Given the description of an element on the screen output the (x, y) to click on. 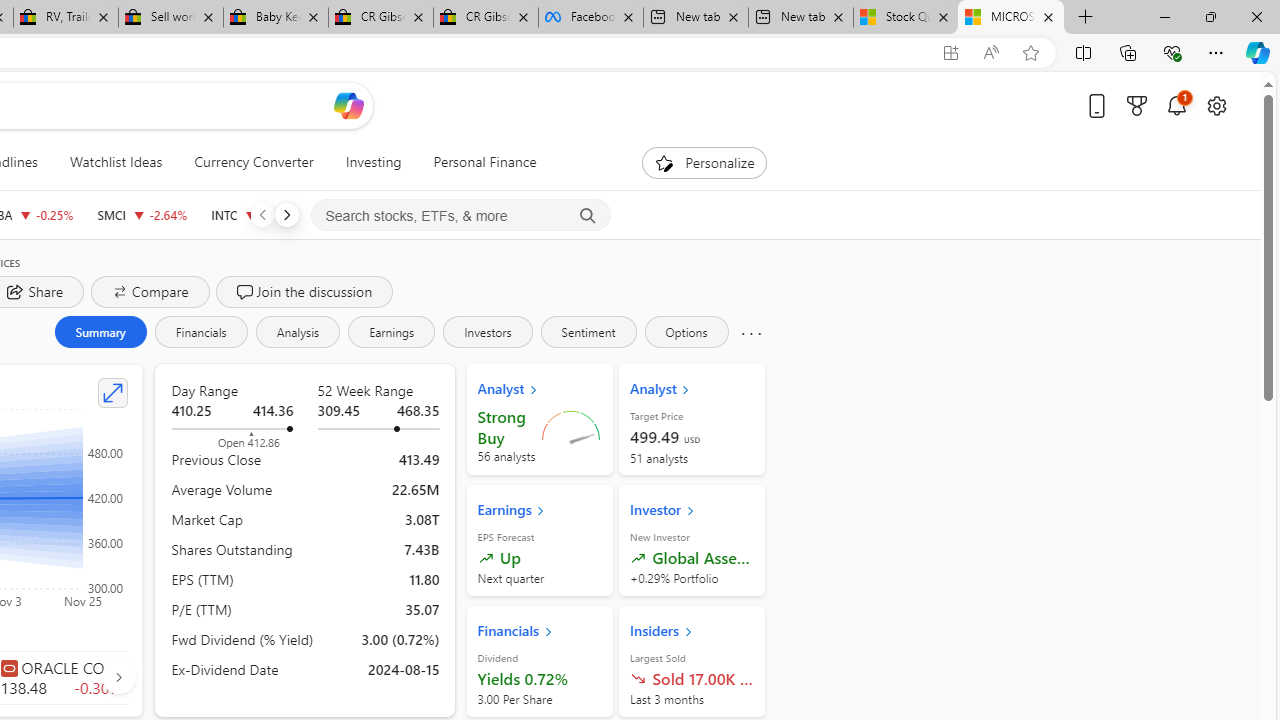
Investing (373, 162)
AutomationID: finance_carousel_navi_arrow (118, 676)
Personalize (703, 162)
App available. Install Start Money (950, 53)
Compare (149, 291)
Open settings (1216, 105)
Sell worldwide with eBay (170, 17)
Watchlist Ideas (115, 162)
